Given the description of an element on the screen output the (x, y) to click on. 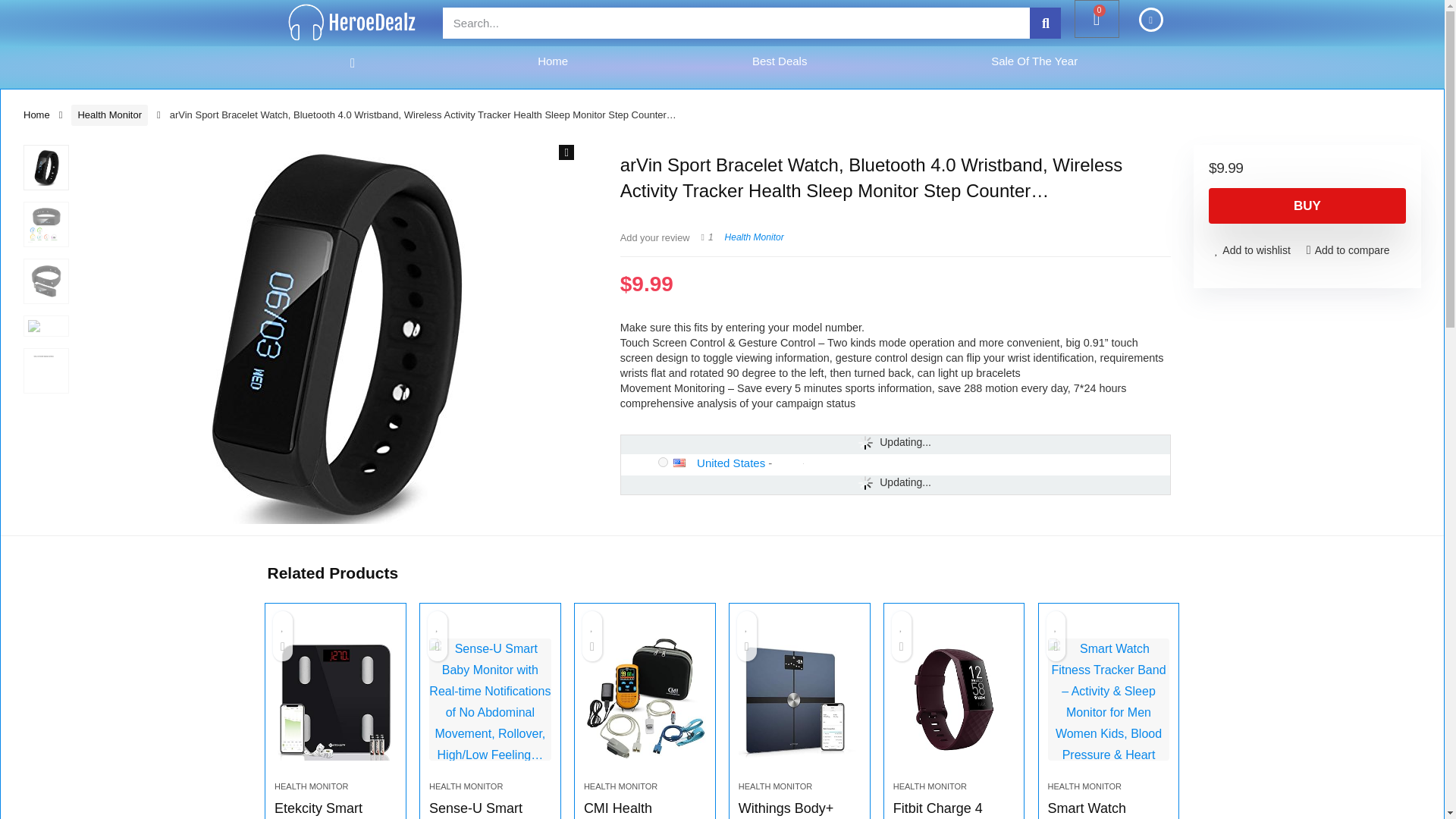
Home (553, 61)
on (663, 461)
Add your review (655, 237)
View all posts in Health Monitor (754, 236)
0 (1096, 18)
United States (684, 462)
Sale Of The Year (1034, 61)
Best Deals (780, 61)
